Given the description of an element on the screen output the (x, y) to click on. 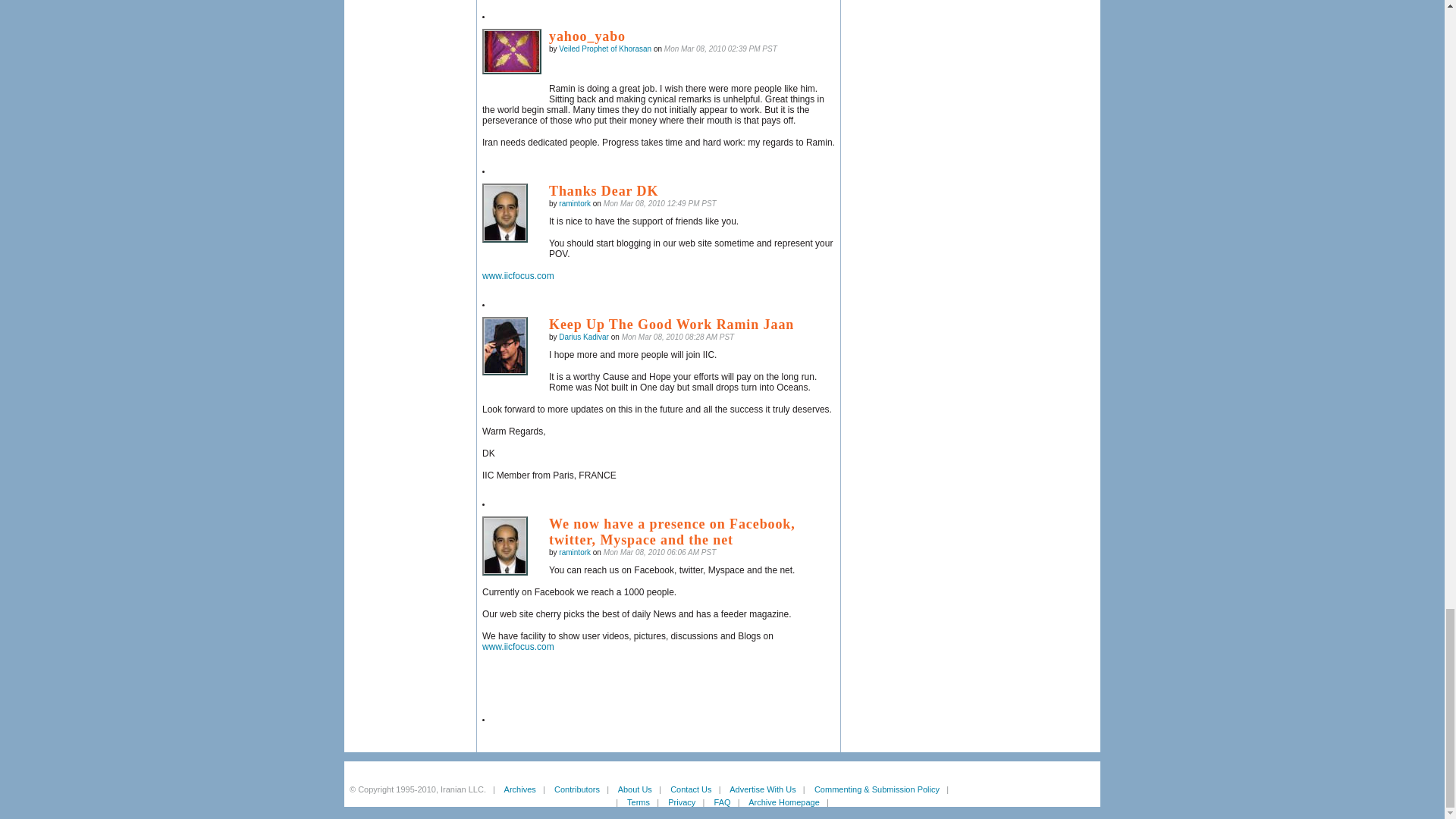
Veiled Prophet of Khorasan (511, 51)
View user profile. (604, 49)
